Given the description of an element on the screen output the (x, y) to click on. 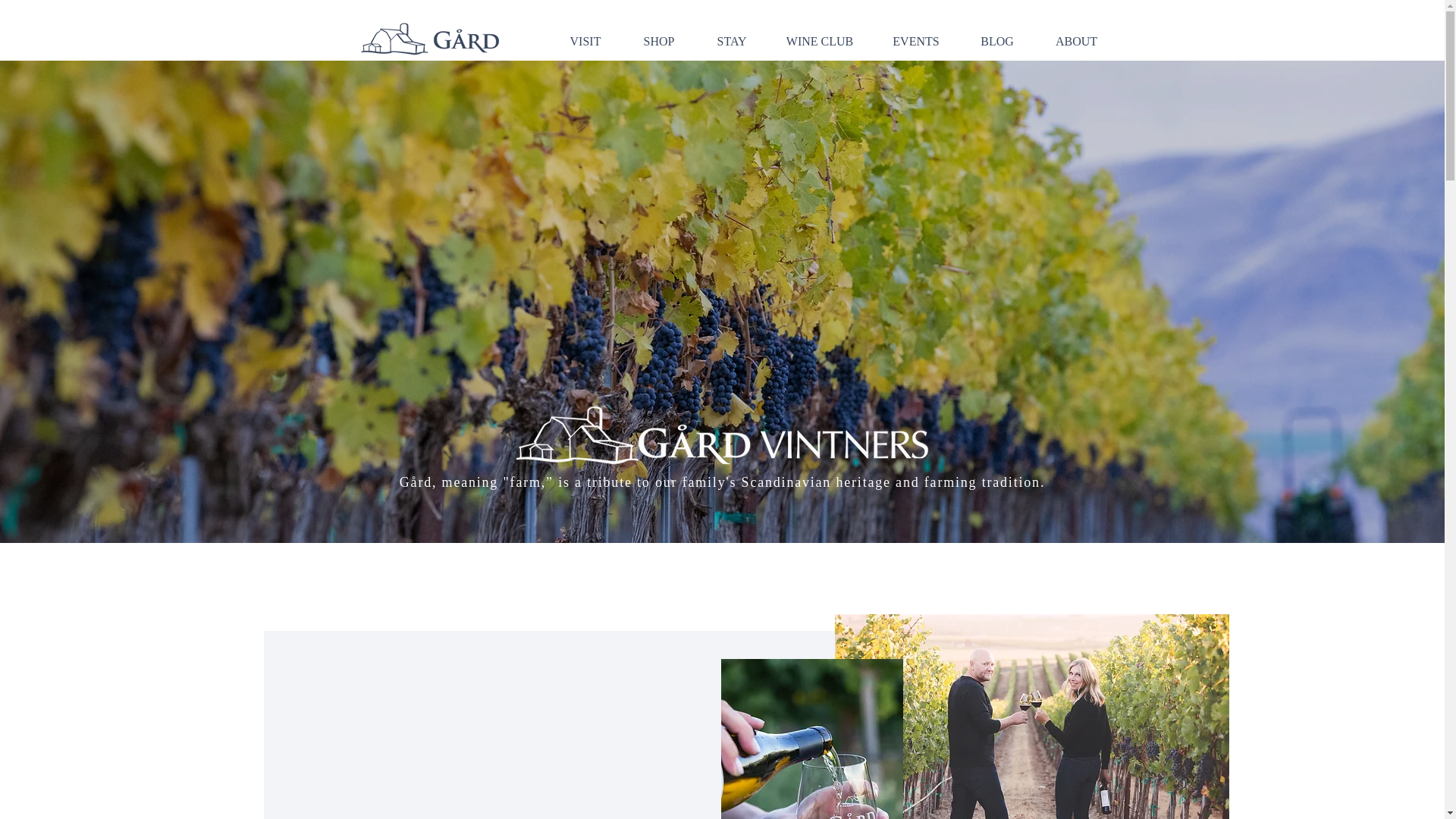
BLOG (997, 41)
SHOP (659, 41)
WINE CLUB (819, 41)
STAY (731, 41)
